Given the description of an element on the screen output the (x, y) to click on. 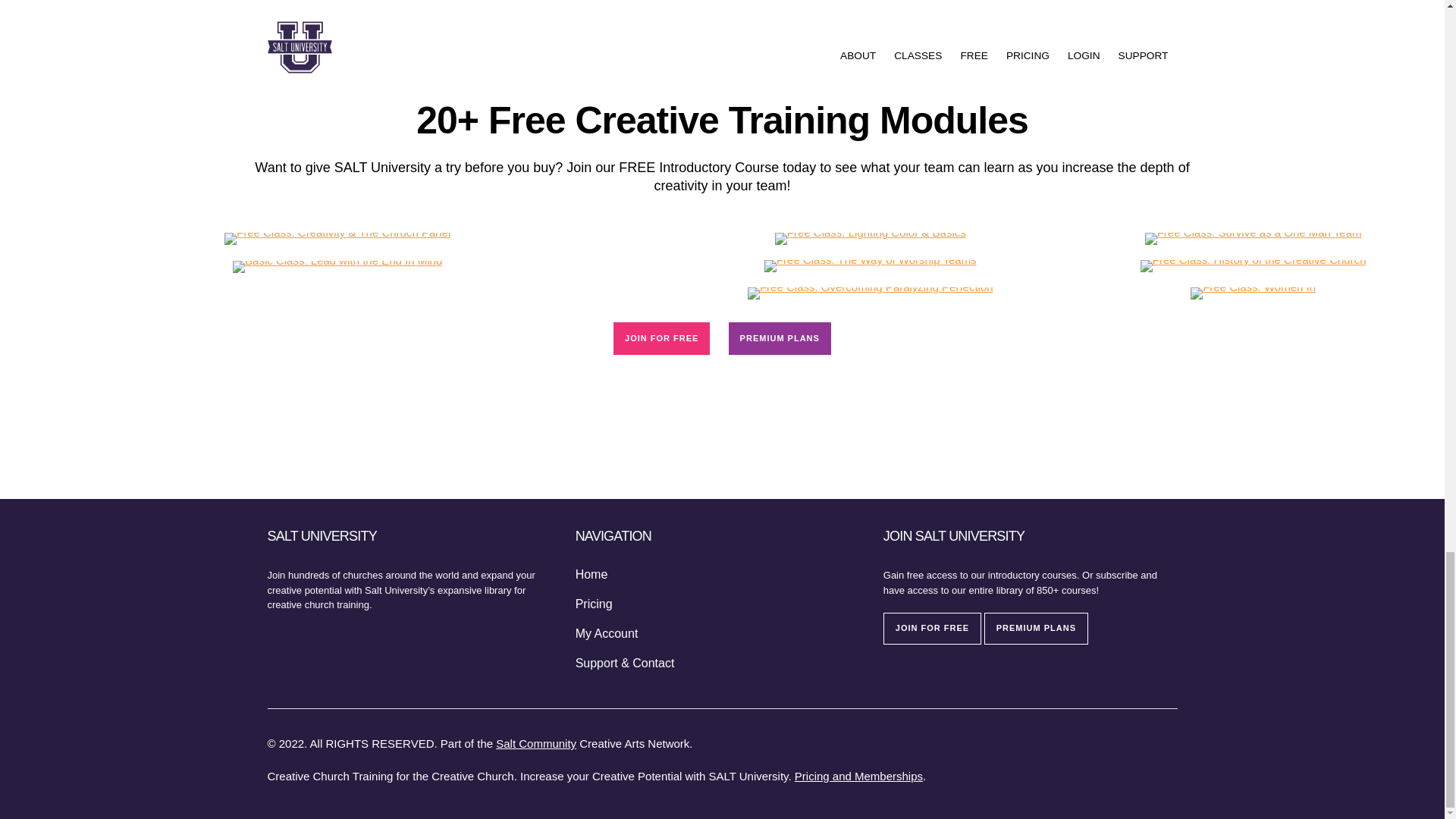
Home (591, 575)
JOIN FOR FREE (932, 628)
PREMIUM PLANS (780, 338)
JOIN FOR FREE (661, 338)
Pricing (593, 604)
My Account (607, 634)
Salt Community (536, 743)
PREMIUM PLANS (1035, 628)
Pricing and Memberships (858, 775)
